Given the description of an element on the screen output the (x, y) to click on. 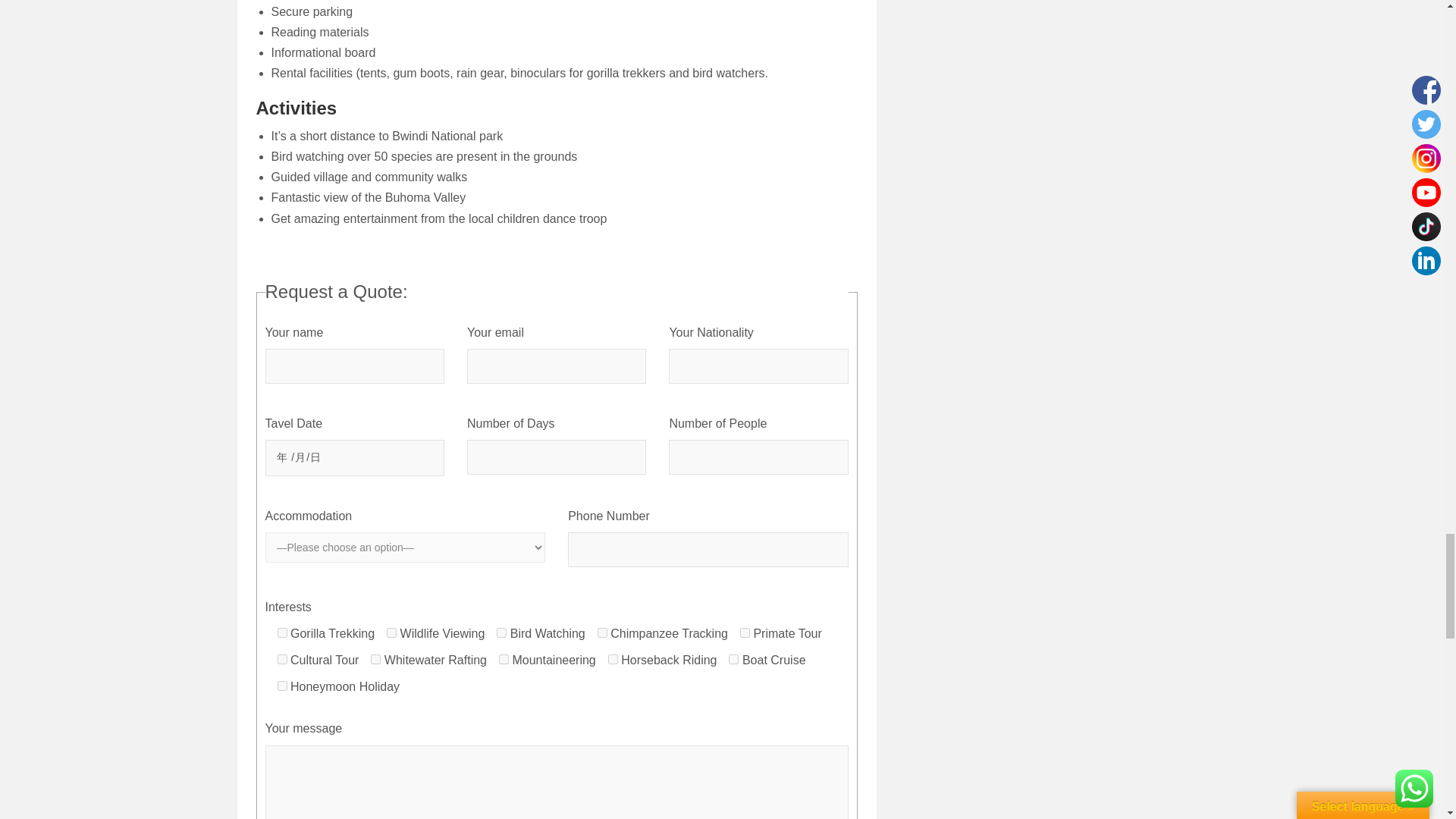
Wildlife Viewing (391, 633)
Honeymoon Holiday (282, 685)
Primate Tour (744, 633)
Mountaineering (503, 659)
Boat Cruise (733, 659)
Whitewater Rafting (375, 659)
Horseback Riding (612, 659)
Chimpanzee Tracking (601, 633)
Cultural Tour (282, 659)
Gorilla Trekking (282, 633)
Bird Watching (501, 633)
